Given the description of an element on the screen output the (x, y) to click on. 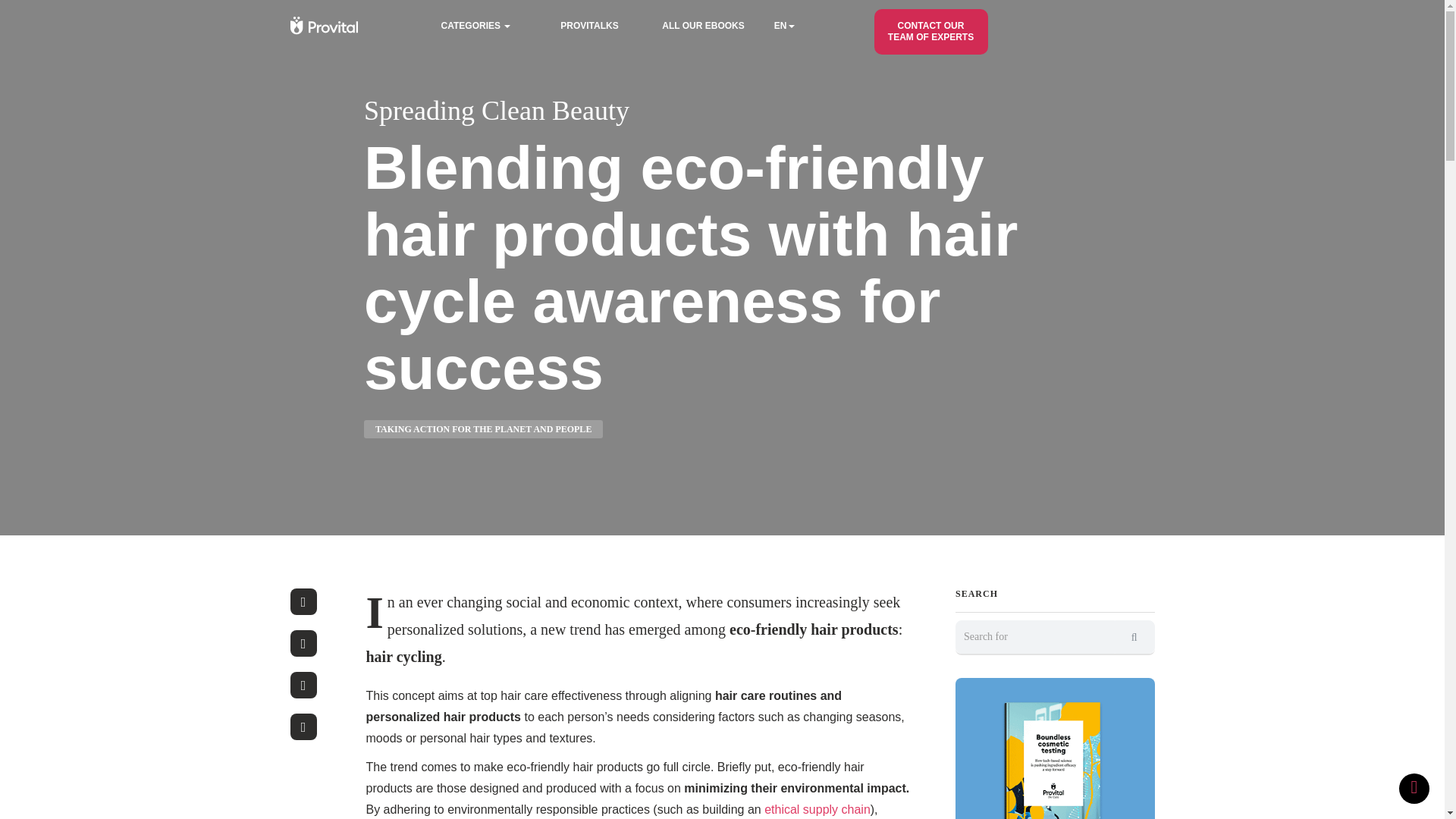
 EN (809, 26)
Contact our team of experts (930, 31)
Spreading Clean Beauty (496, 110)
Provitalks (589, 26)
ethical supply chain (815, 809)
ALL OUR EBOOKS (703, 26)
CATEGORIES (475, 26)
TAKING ACTION FOR THE PLANET AND PEOPLE (483, 429)
Go to homepage (496, 110)
Categories (475, 26)
